Given the description of an element on the screen output the (x, y) to click on. 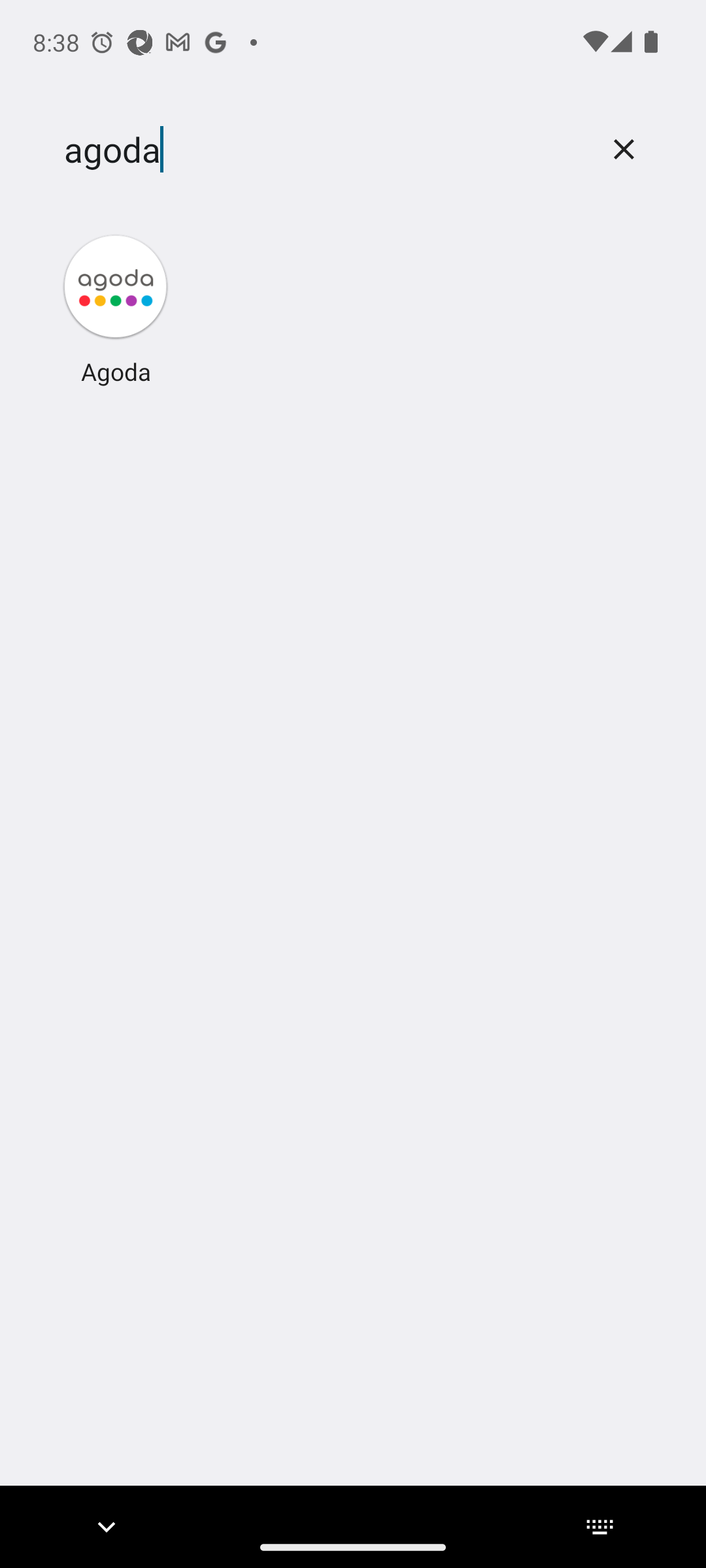
agoda (321, 149)
Clear search box (623, 149)
Agoda (115, 308)
